Given the description of an element on the screen output the (x, y) to click on. 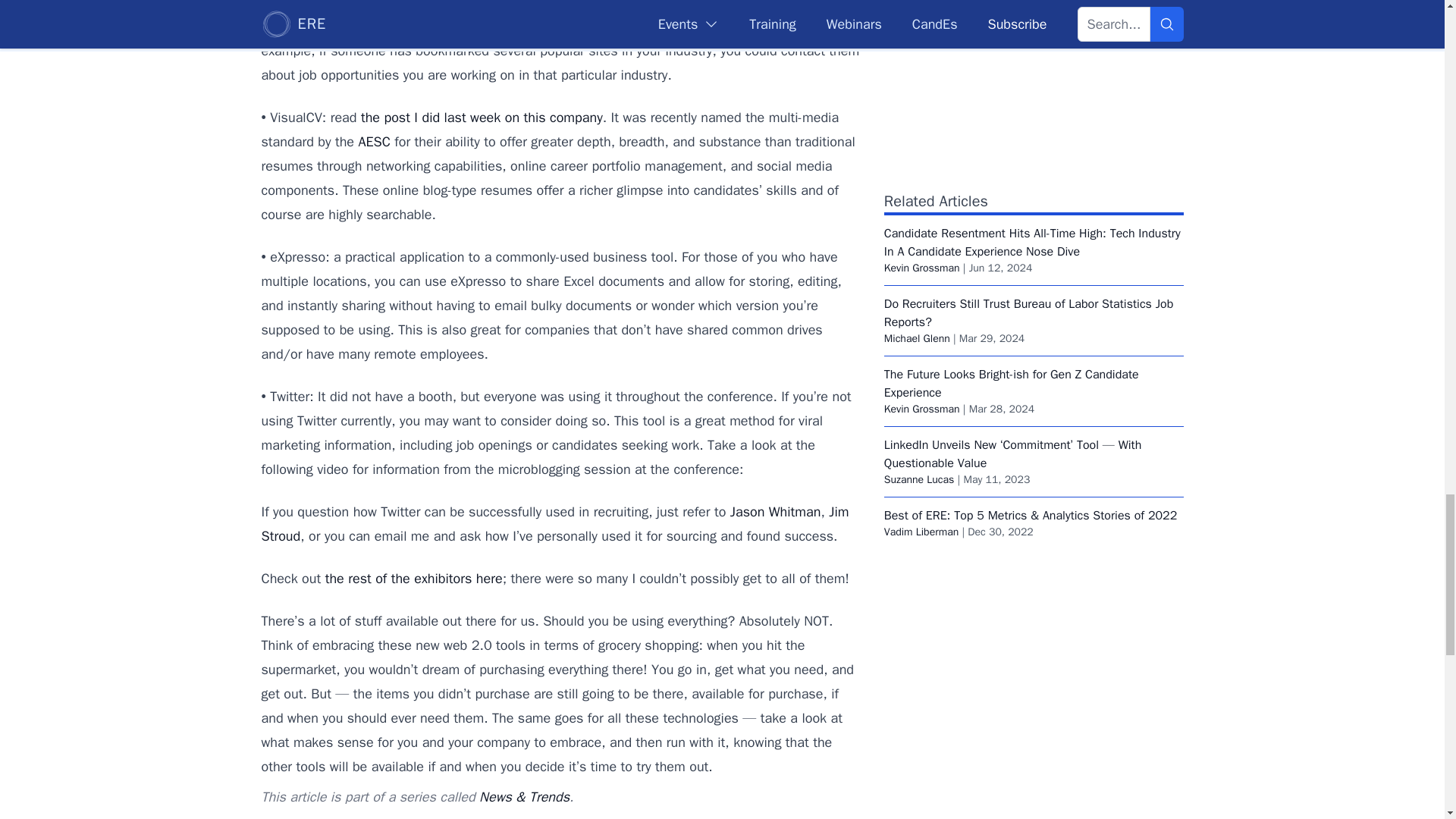
Michael Glenn (916, 338)
Kevin Grossman (921, 267)
the post I did last week on this company (481, 117)
the rest of the exhibitors here (413, 578)
AESC (374, 141)
Jim Stroud (554, 523)
Jason Whitman (775, 511)
